Given the description of an element on the screen output the (x, y) to click on. 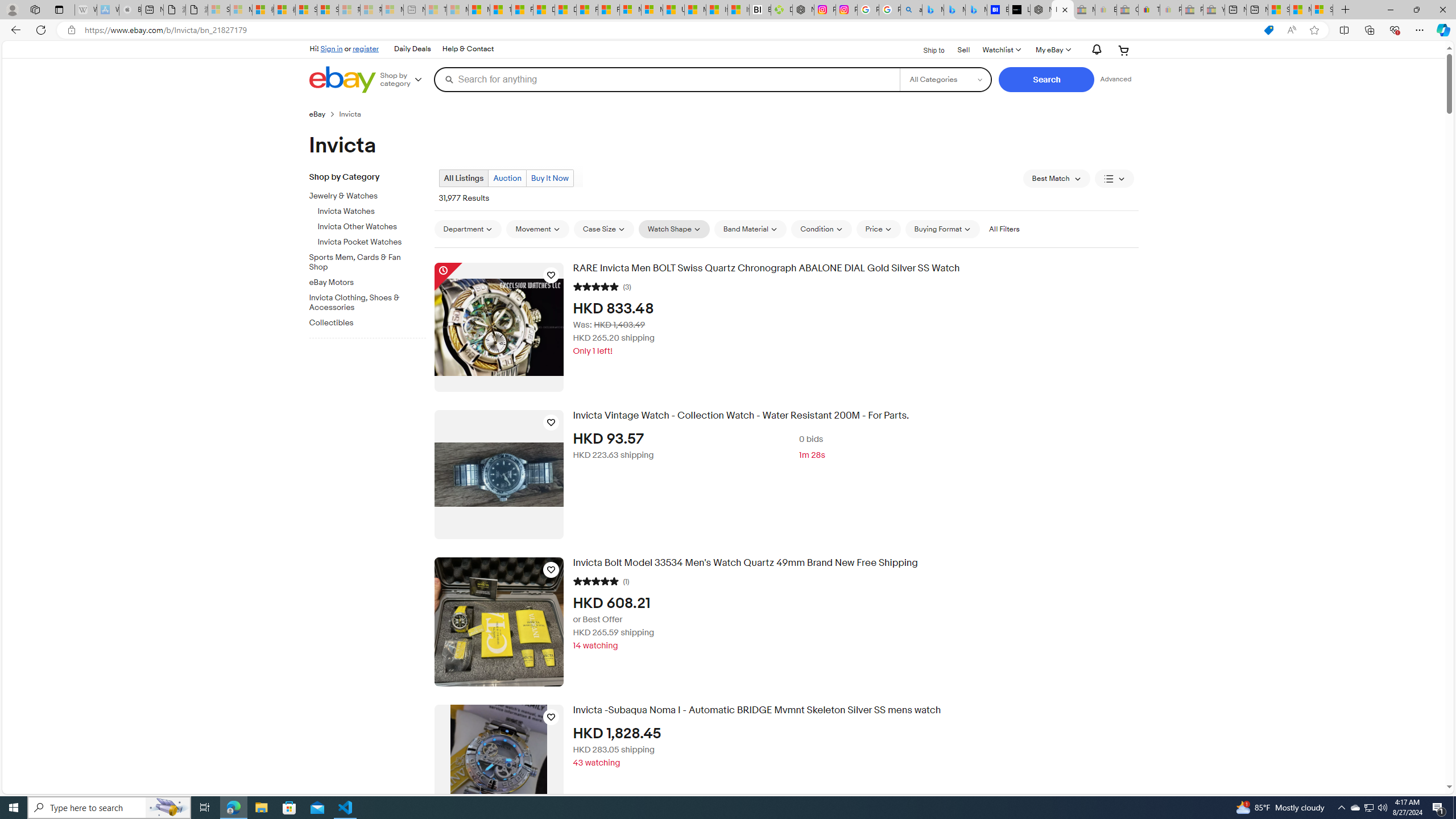
Descarga Driver Updater (781, 9)
Watch Shape (673, 229)
Department (467, 229)
Daily Deals (412, 49)
Buy It Now (549, 177)
Sports Mem, Cards & Fan Shop (371, 260)
Your shopping cart (1123, 49)
Threats and offensive language policy | eBay (1149, 9)
Invicta (354, 113)
View: List View (1114, 178)
Payments Terms of Use | eBay.com - Sleeping (1170, 9)
